Given the description of an element on the screen output the (x, y) to click on. 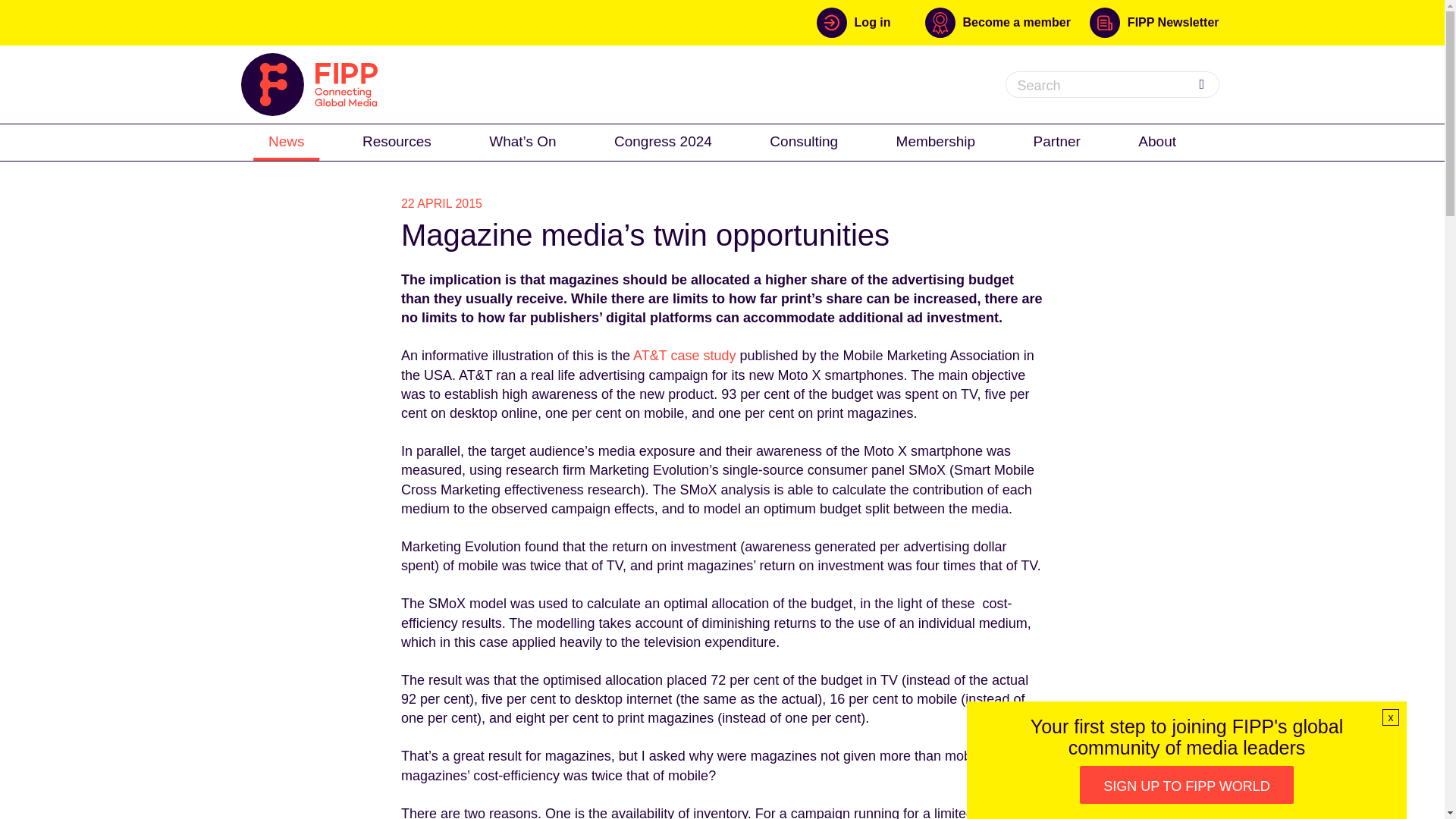
News (286, 141)
Membership (935, 141)
Partner (1056, 141)
About (1156, 141)
Congress 2024 (662, 141)
Become a member (1006, 22)
FIPP Newsletter (1154, 22)
Consulting (803, 141)
Resources (396, 141)
